Given the description of an element on the screen output the (x, y) to click on. 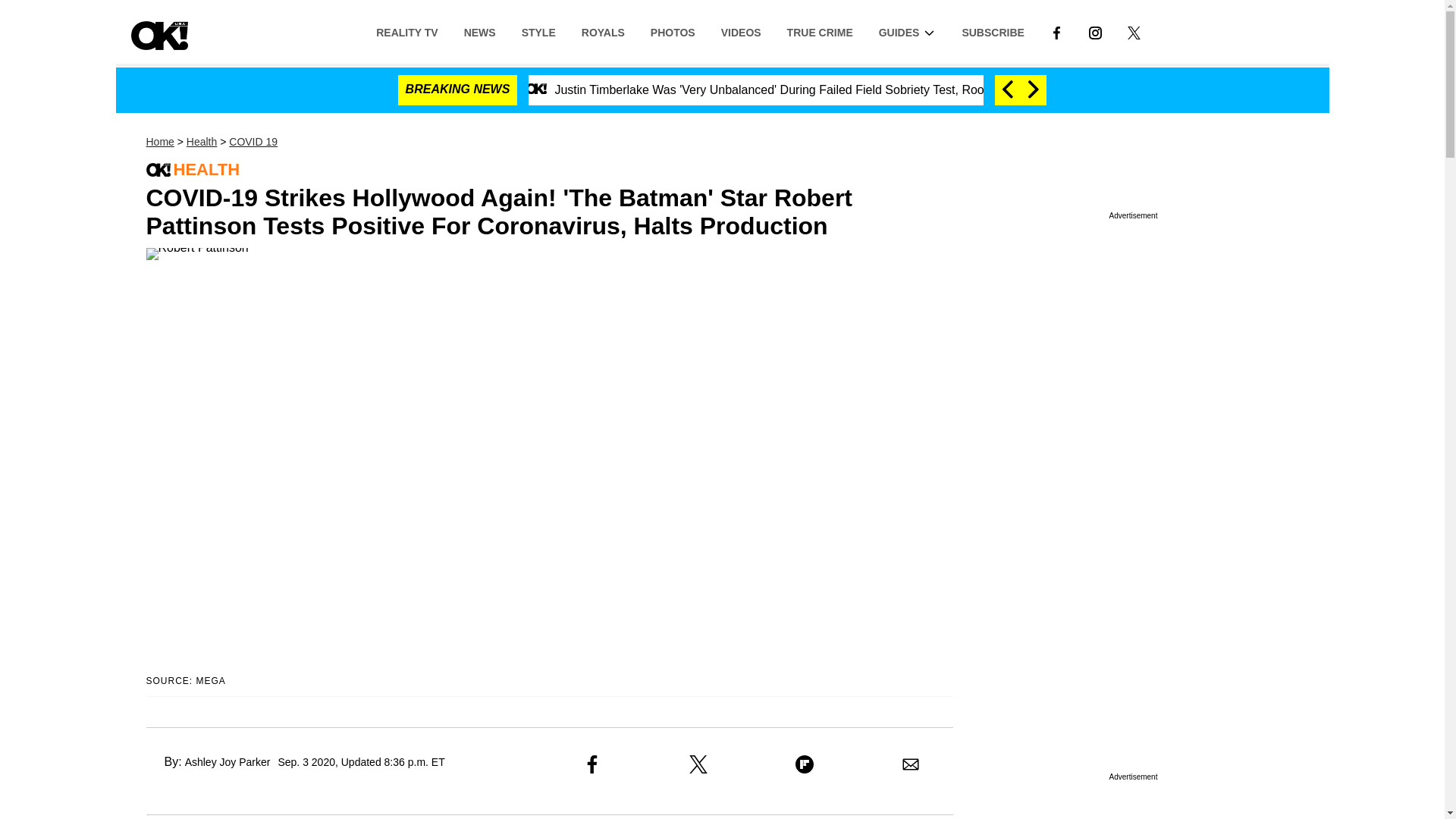
COVID 19 (253, 141)
LINK TO X (1133, 32)
LINK TO INSTAGRAM (1095, 32)
Home (159, 141)
REALITY TV (405, 31)
ROYALS (603, 31)
LINK TO FACEBOOK (1055, 32)
LINK TO X (1134, 31)
Link to Facebook (1055, 31)
